Given the description of an element on the screen output the (x, y) to click on. 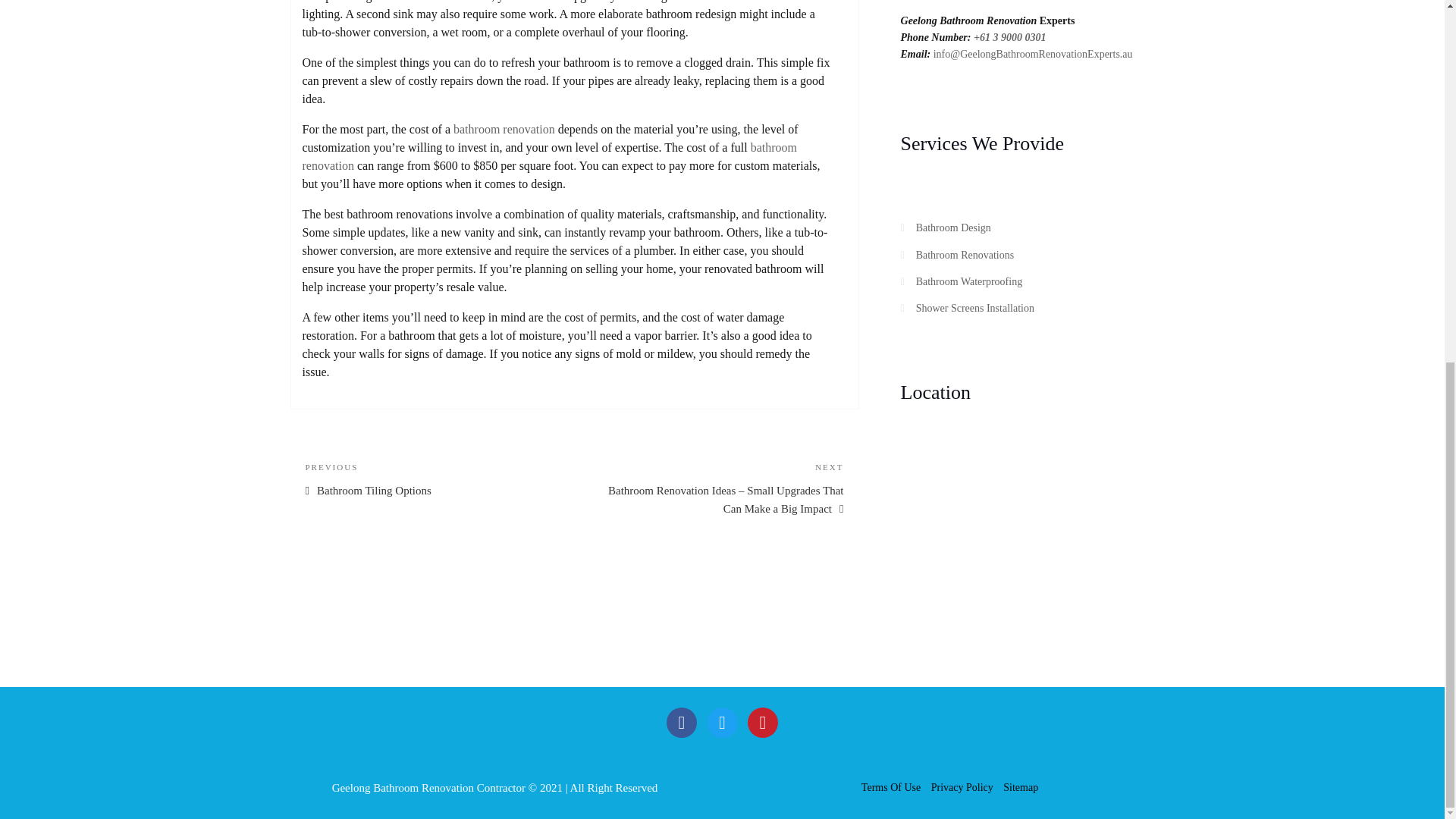
bathroom renovation (548, 155)
Google-Plus (762, 722)
Bathroom Renovations (964, 255)
Shower Screens Installation (974, 307)
bathroom renovation (503, 128)
Bathroom Waterproofing (969, 281)
Twitter (721, 722)
Facebook (431, 479)
Bathroom Design (681, 722)
